Given the description of an element on the screen output the (x, y) to click on. 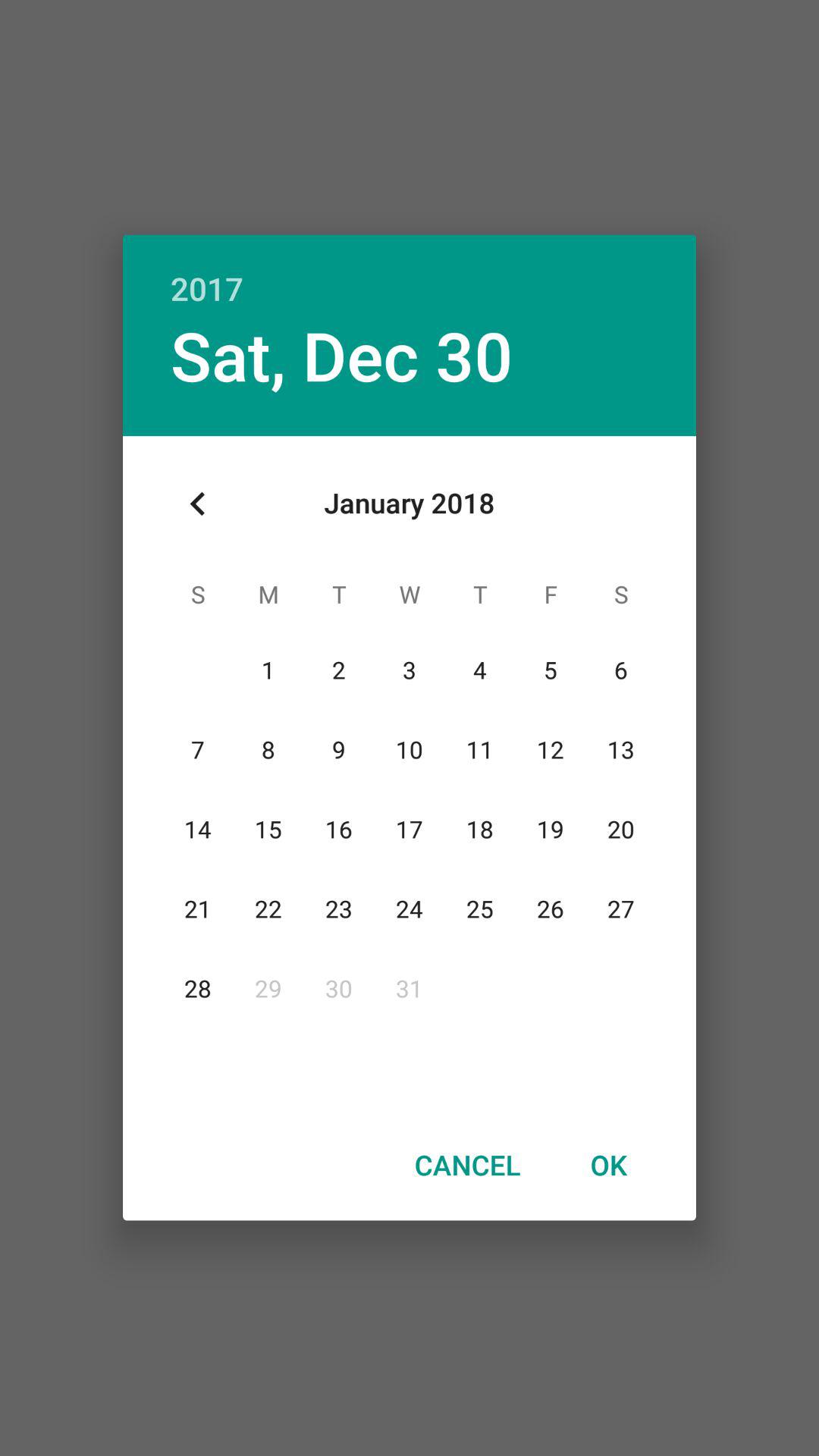
open item at the bottom right corner (608, 1164)
